Given the description of an element on the screen output the (x, y) to click on. 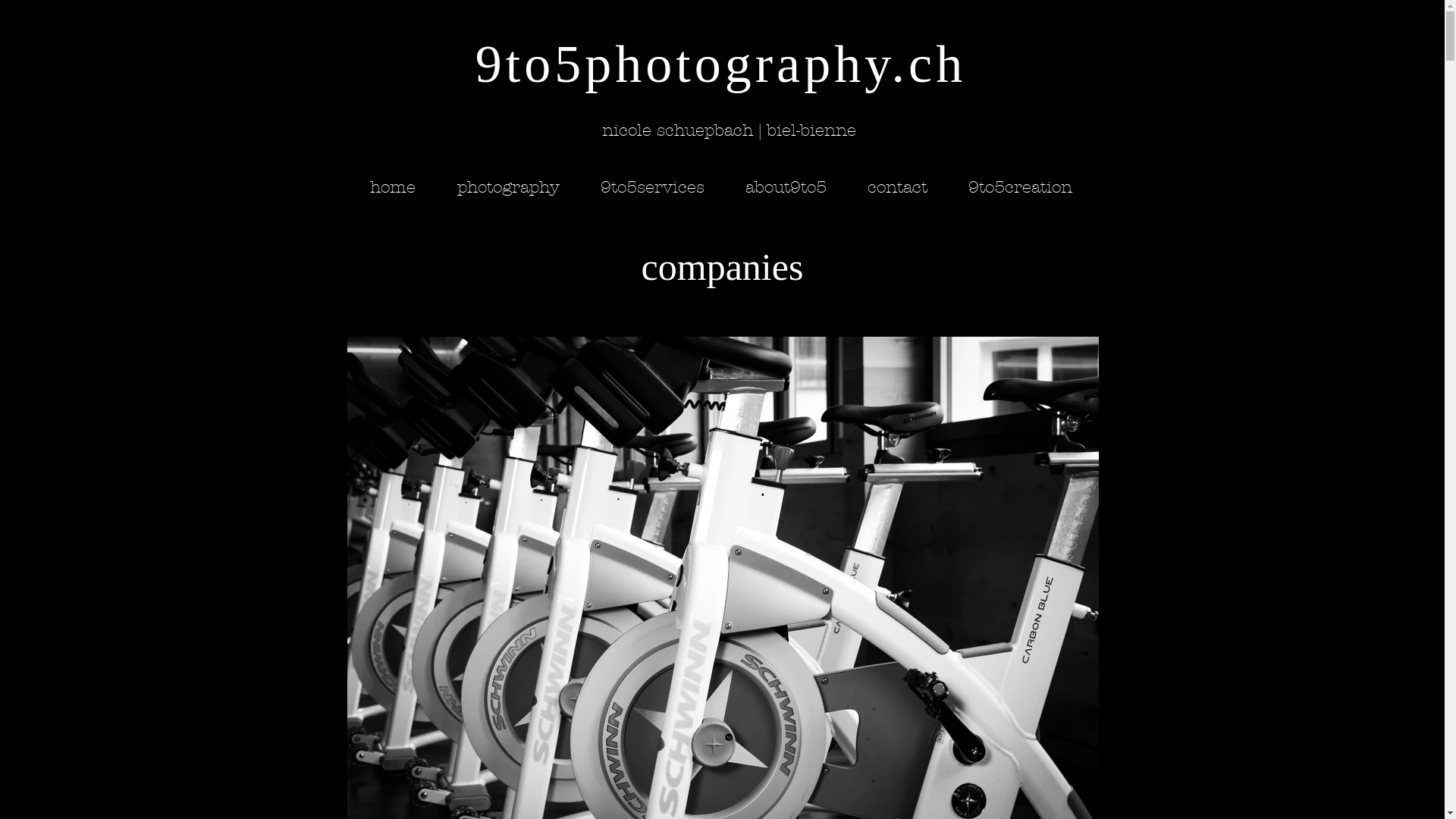
photography.ch Element type: text (775, 63)
9to5creation Element type: text (1019, 186)
home Element type: text (392, 186)
about9to5 Element type: text (785, 186)
contact Element type: text (896, 186)
9to5 Element type: text (529, 63)
9to5services Element type: text (651, 186)
photography Element type: text (508, 186)
